Given the description of an element on the screen output the (x, y) to click on. 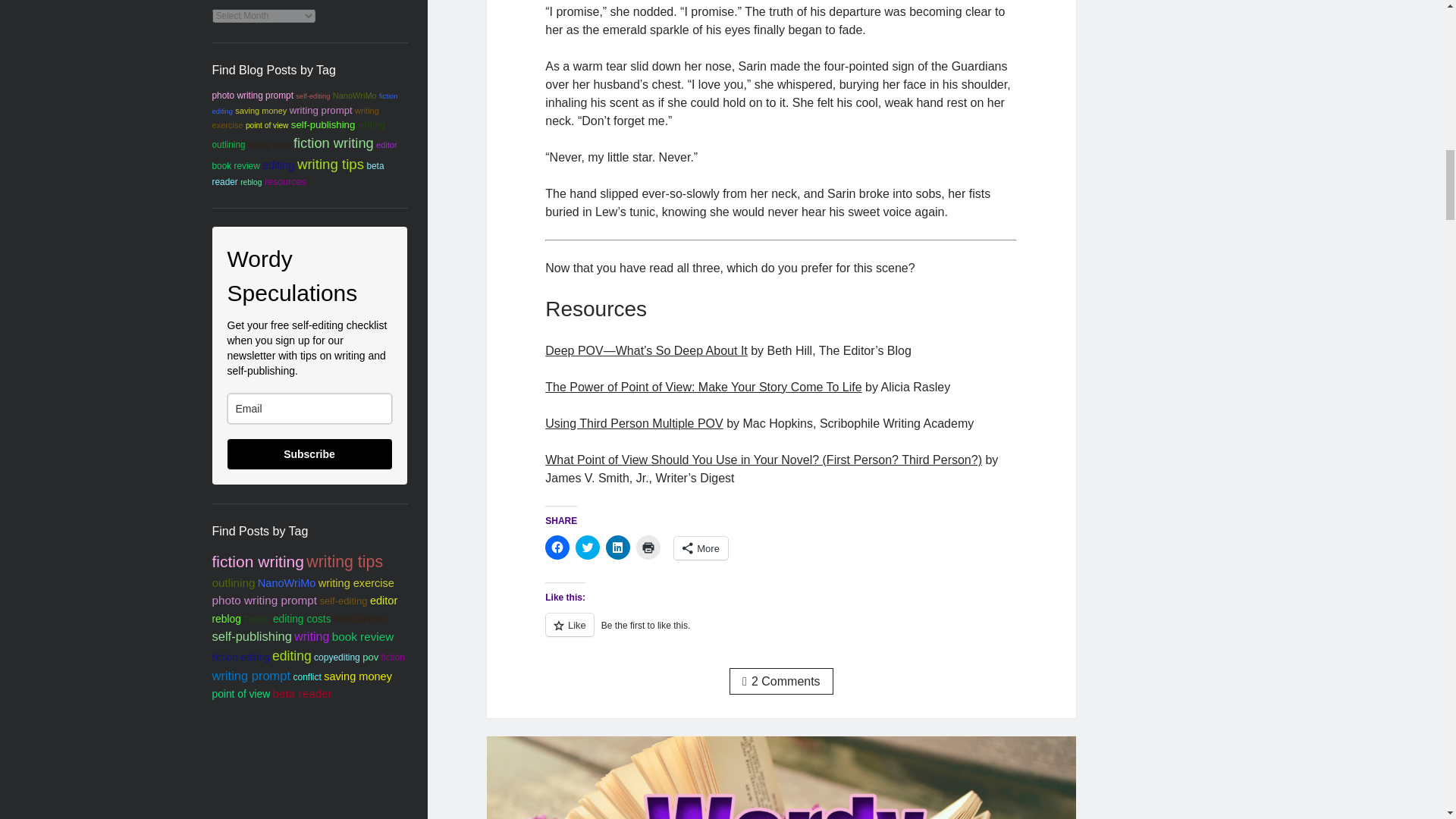
Click to share on Facebook (556, 547)
Click to share on LinkedIn (617, 547)
photo writing prompt (253, 95)
self-editing (312, 95)
Like or Reblog (780, 633)
Click to share on Twitter (587, 547)
Click to print (648, 547)
NanoWriMo (355, 94)
